Given the description of an element on the screen output the (x, y) to click on. 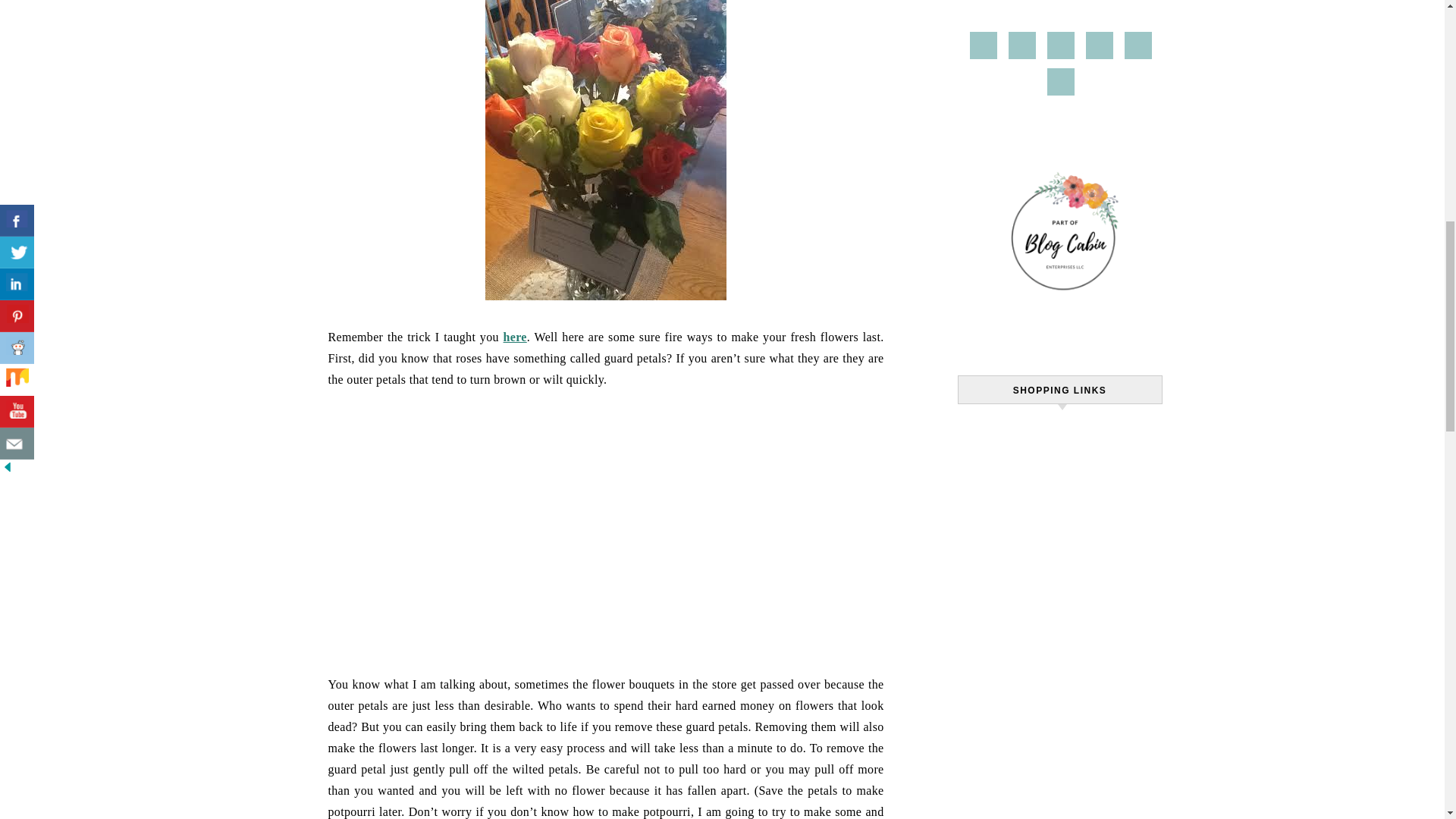
teacher sweatshirts (1018, 427)
Y2k tops (1111, 427)
teacher tops (1065, 446)
gym shirt (990, 446)
